Given the description of an element on the screen output the (x, y) to click on. 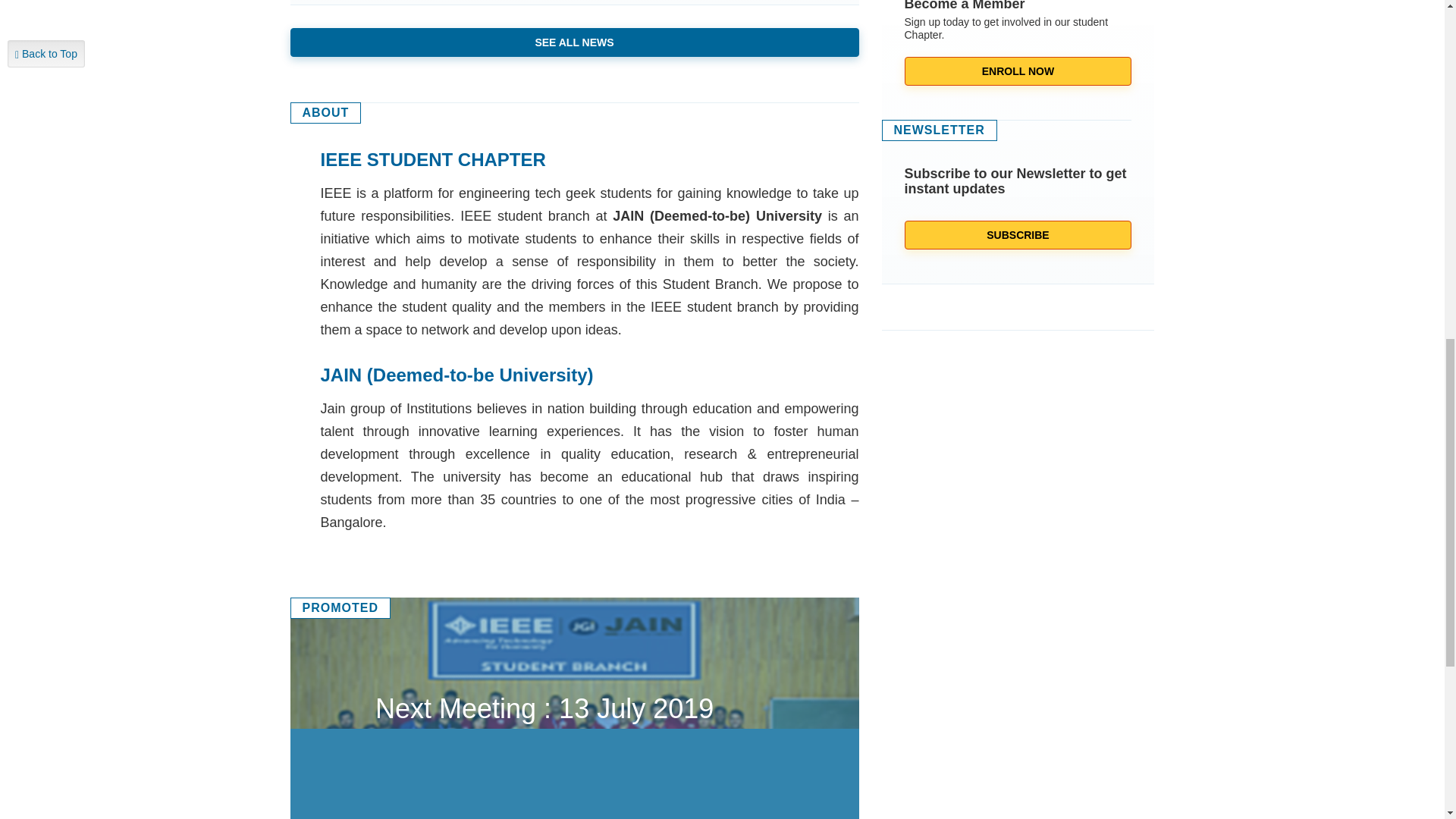
Subscribe (1017, 234)
Enroll Now (1017, 70)
